Given the description of an element on the screen output the (x, y) to click on. 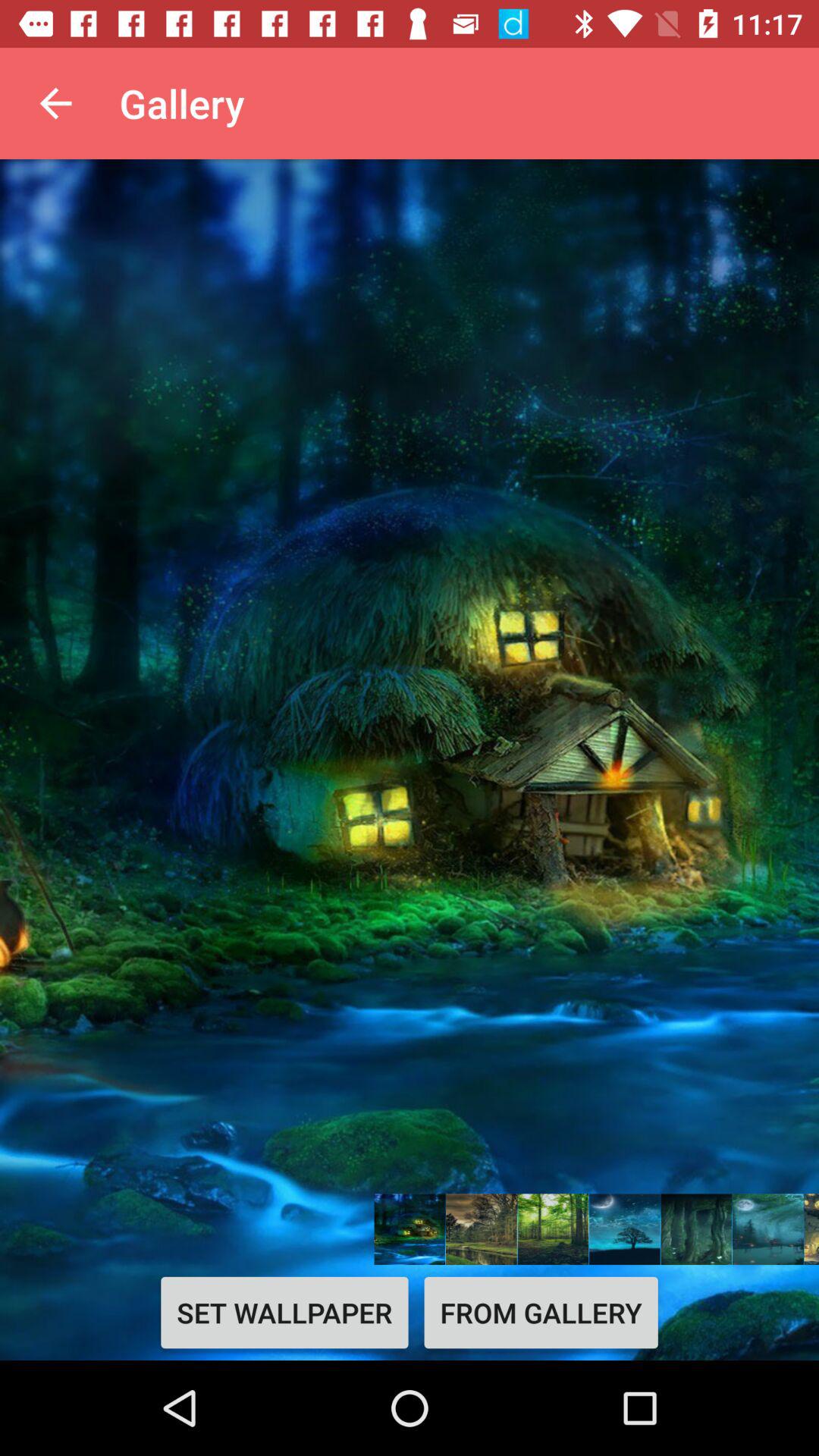
tap set wallpaper item (284, 1312)
